Given the description of an element on the screen output the (x, y) to click on. 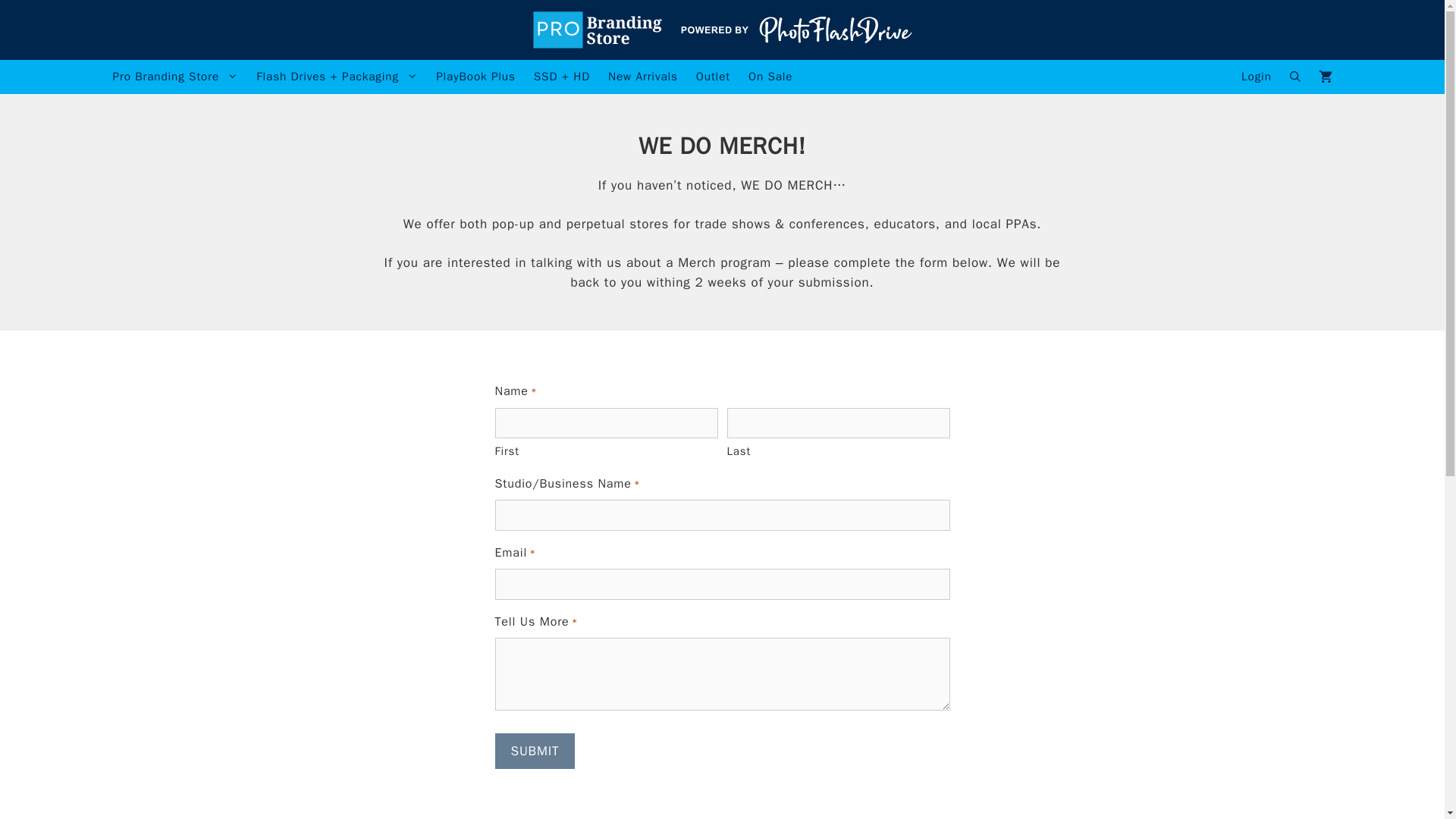
View your shopping cart (1324, 76)
Pro Branding Store (175, 76)
Submit (535, 750)
